Given the description of an element on the screen output the (x, y) to click on. 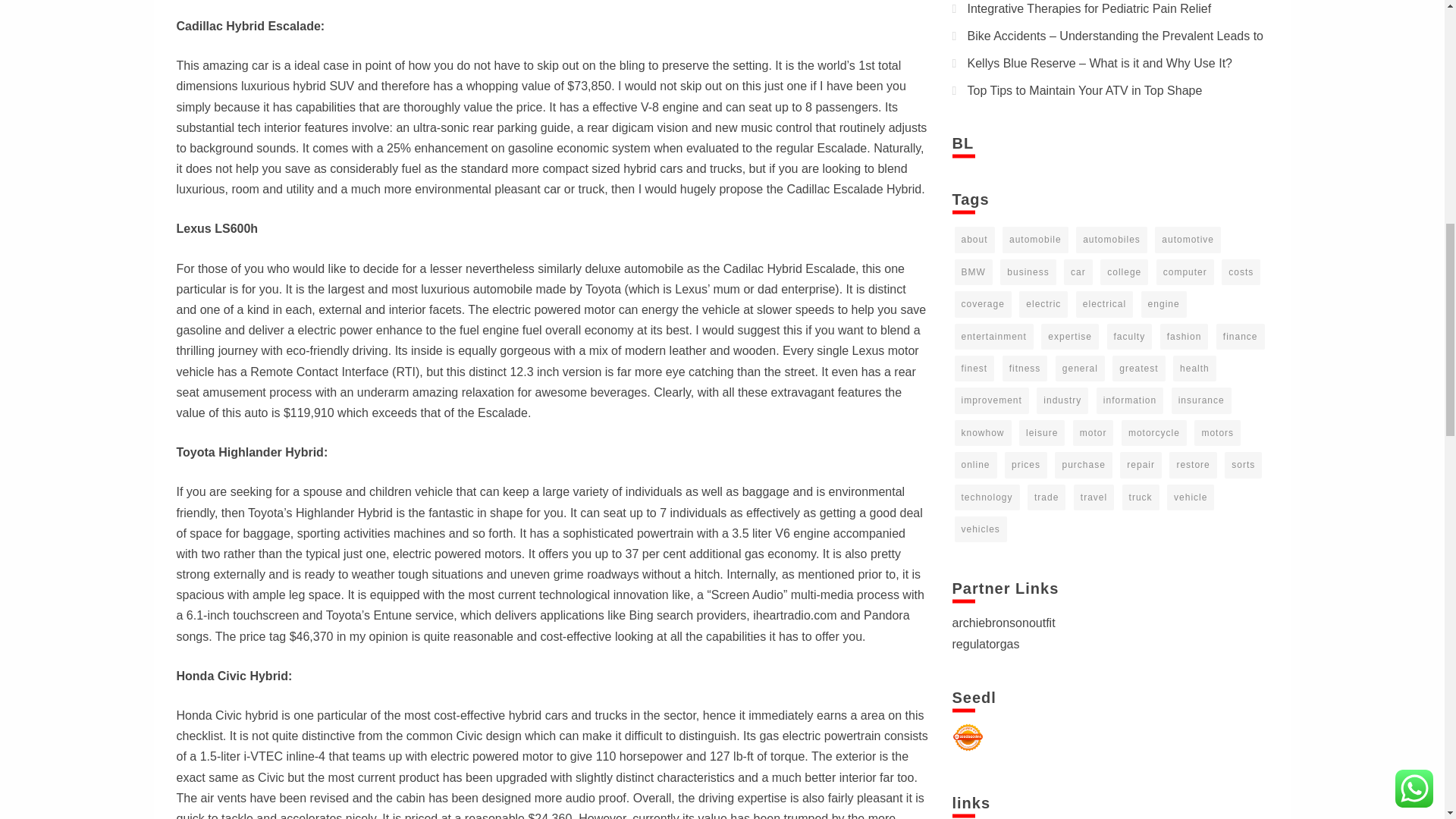
Seedbacklink (968, 737)
